Given the description of an element on the screen output the (x, y) to click on. 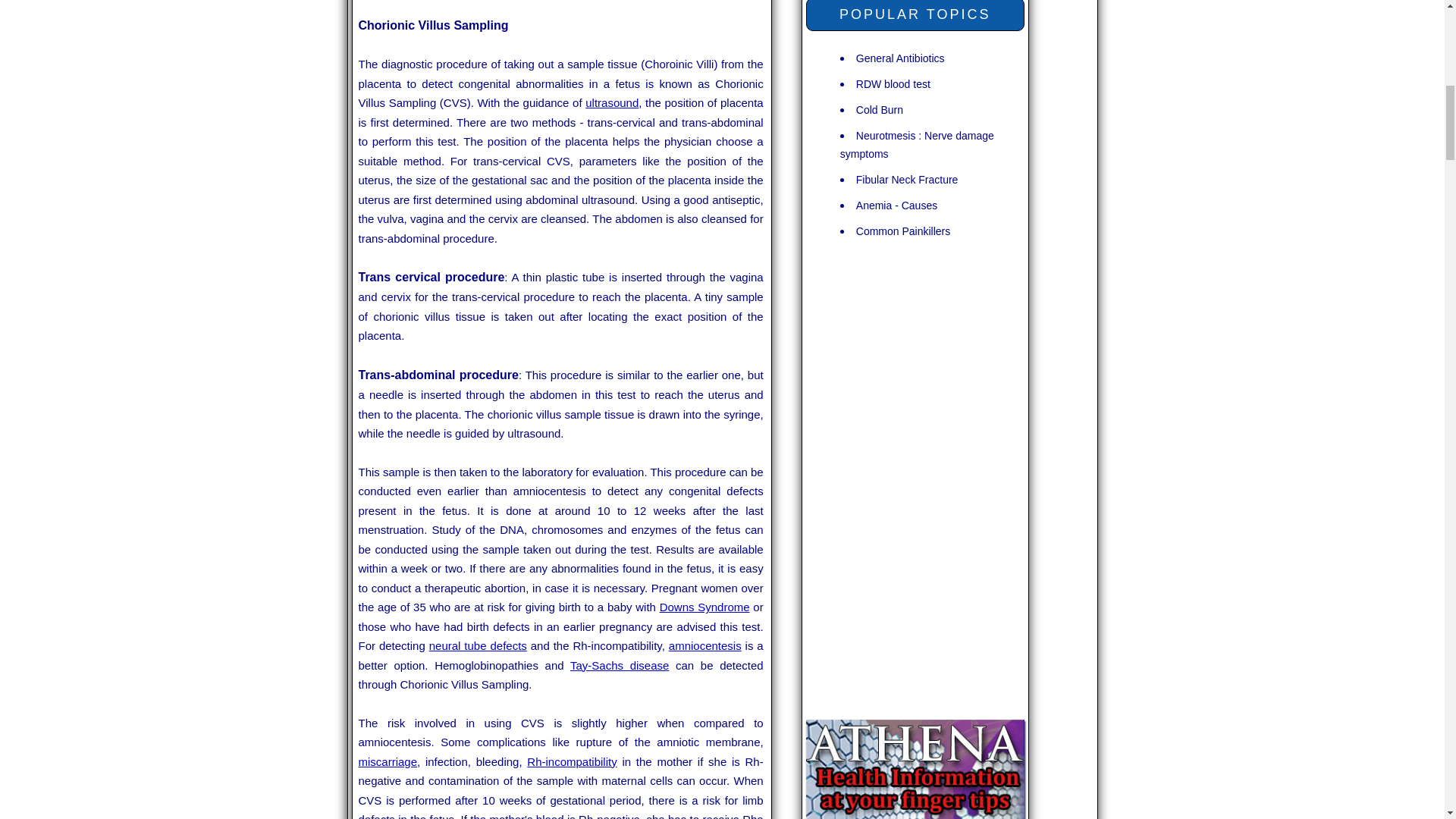
neural tube defects (478, 645)
amniocentesis (704, 645)
Rh-incompatibility (571, 761)
miscarriage (387, 761)
Downs Syndrome (704, 606)
Fibular Neck Fracture (907, 178)
Neurotmesis : Nerve damage symptoms (917, 143)
RDW blood test (893, 83)
Anemia - Causes, Types and Treatment (896, 205)
ultrasound (612, 102)
General Antibiotics (900, 57)
Cold Burn (879, 109)
Common PainKillers (903, 230)
Tay-Sachs disease (619, 665)
